Given the description of an element on the screen output the (x, y) to click on. 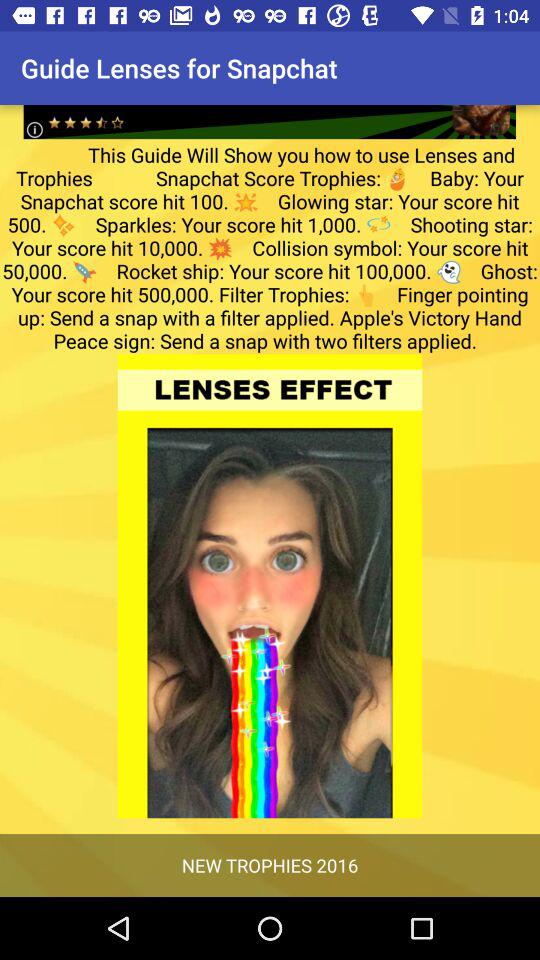
launch the new trophies 2016 item (270, 864)
